Given the description of an element on the screen output the (x, y) to click on. 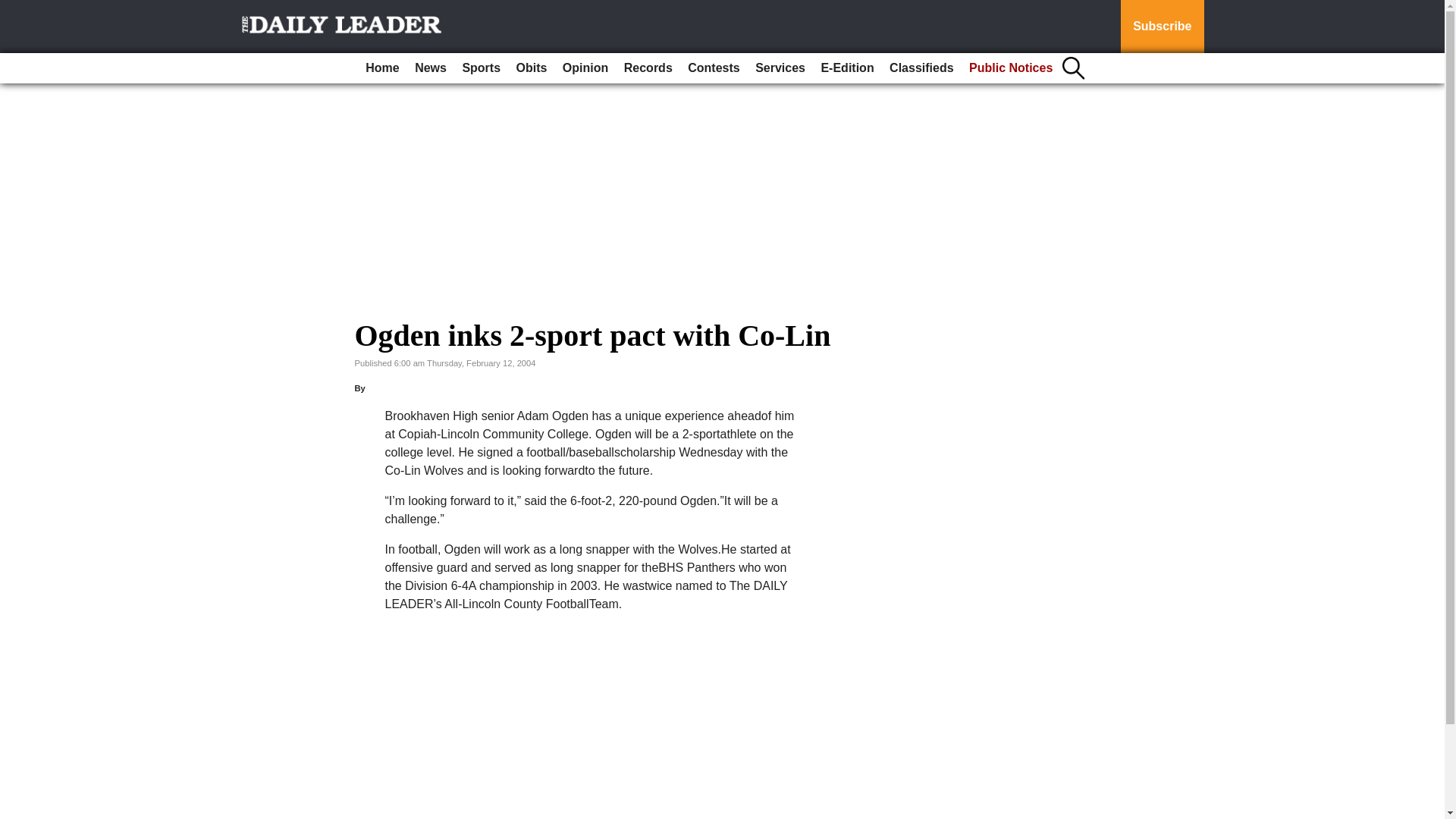
Classifieds (921, 68)
Public Notices (1010, 68)
Records (647, 68)
Subscribe (1162, 26)
Opinion (585, 68)
Obits (532, 68)
Home (381, 68)
E-Edition (846, 68)
Contests (713, 68)
Services (779, 68)
